Given the description of an element on the screen output the (x, y) to click on. 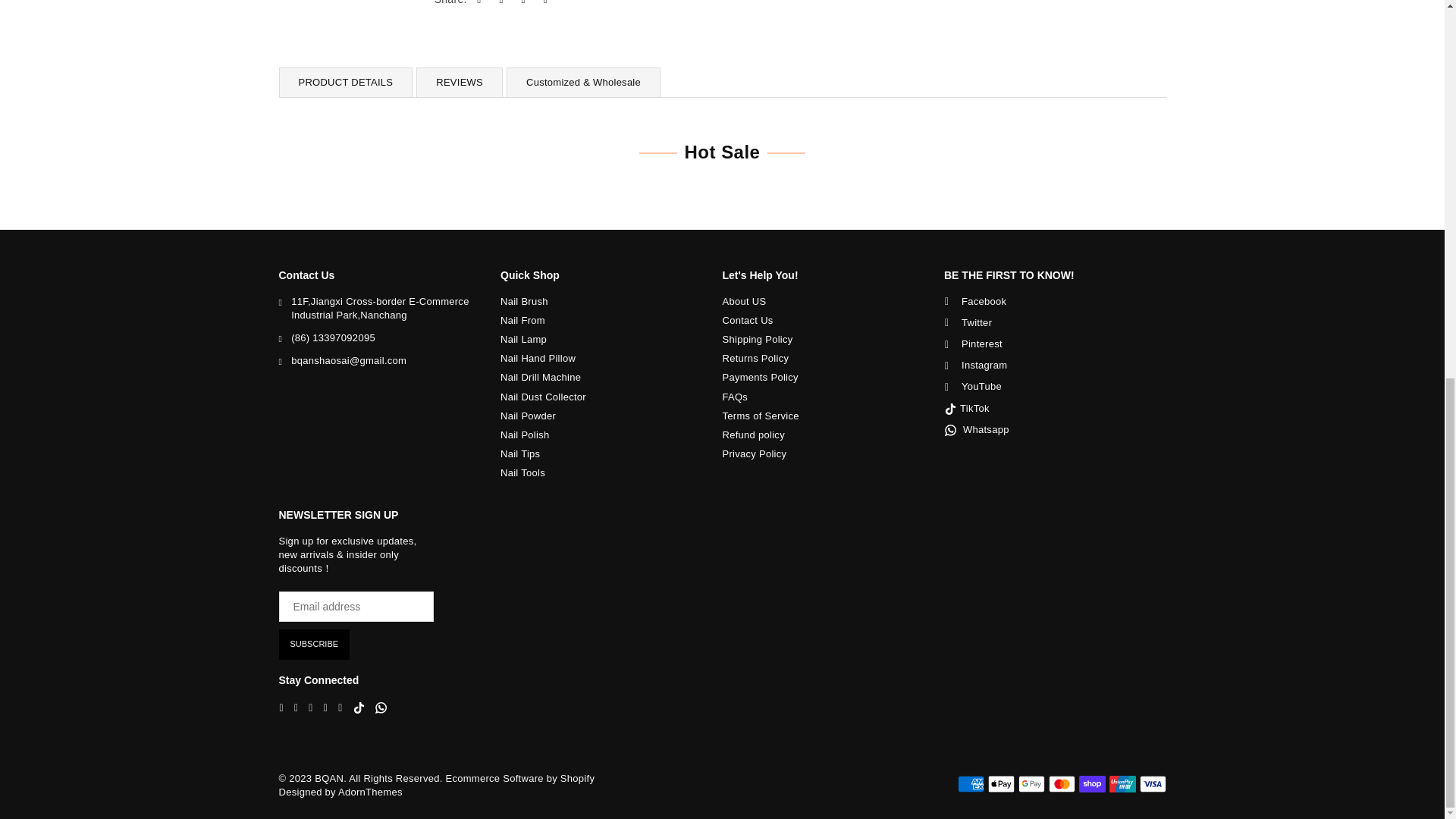
Shop Pay (1091, 783)
Mastercard (1061, 783)
Union Pay (1121, 783)
American Express (970, 783)
Apple Pay (1000, 783)
Google Pay (1030, 783)
Visa (1152, 783)
